Given the description of an element on the screen output the (x, y) to click on. 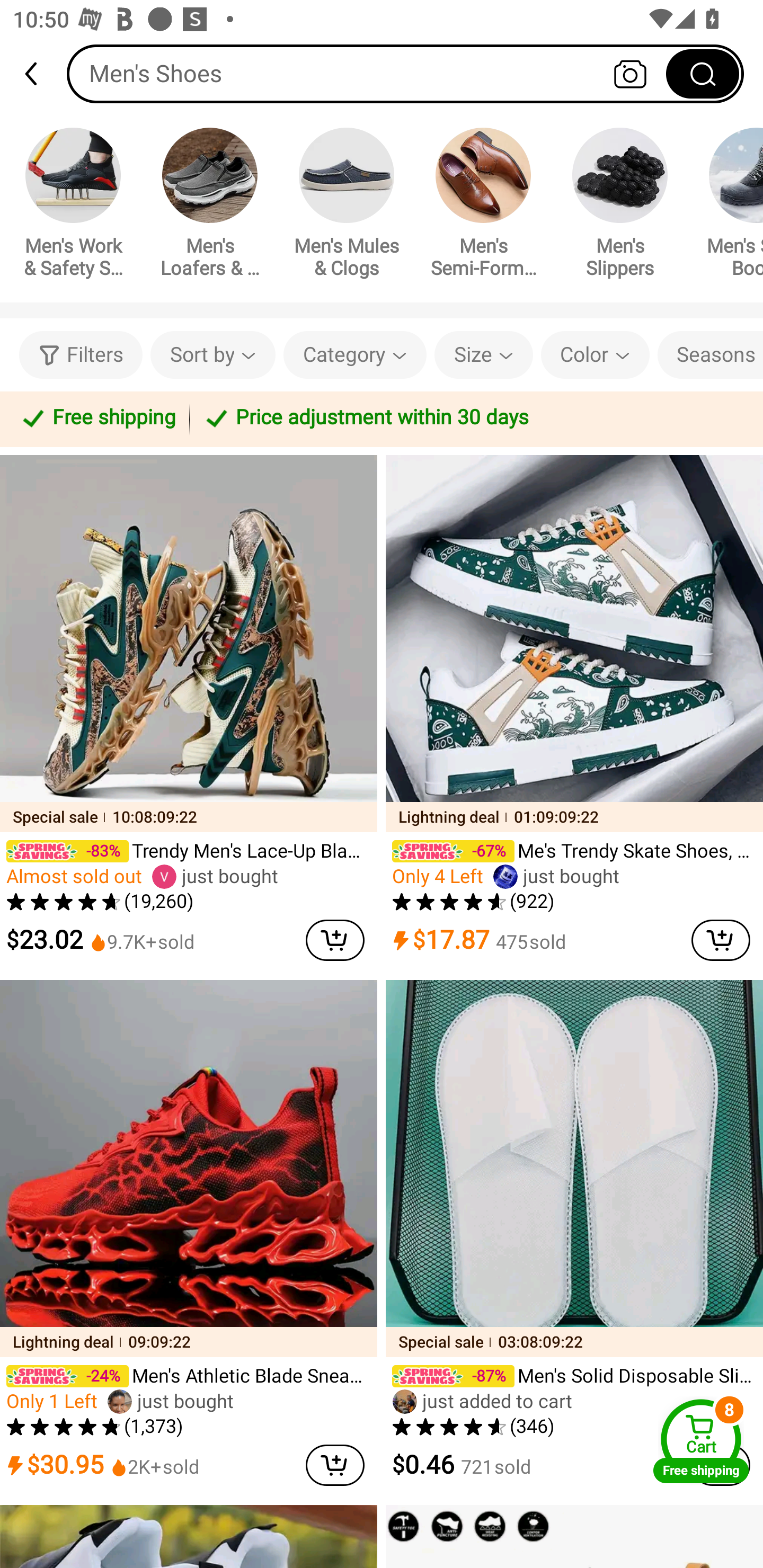
back (39, 73)
Men's Shoes (405, 73)
Men's Work & Safety Shoes (73, 205)
Men's Loafers & Slip-Ons (209, 205)
Men's Mules & Clogs (346, 205)
Men's Semi-Formal Shoes (483, 205)
Men's Slippers (619, 205)
Men's Snow Boots (728, 205)
Filters (80, 354)
Sort by (212, 354)
Category (354, 354)
Size (483, 354)
Color (594, 354)
Seasons (710, 354)
Free shipping (97, 418)
Price adjustment within 30 days (472, 418)
cart delete (334, 939)
cart delete (720, 939)
Cart Free shipping Cart (701, 1440)
cart delete (334, 1465)
